Given the description of an element on the screen output the (x, y) to click on. 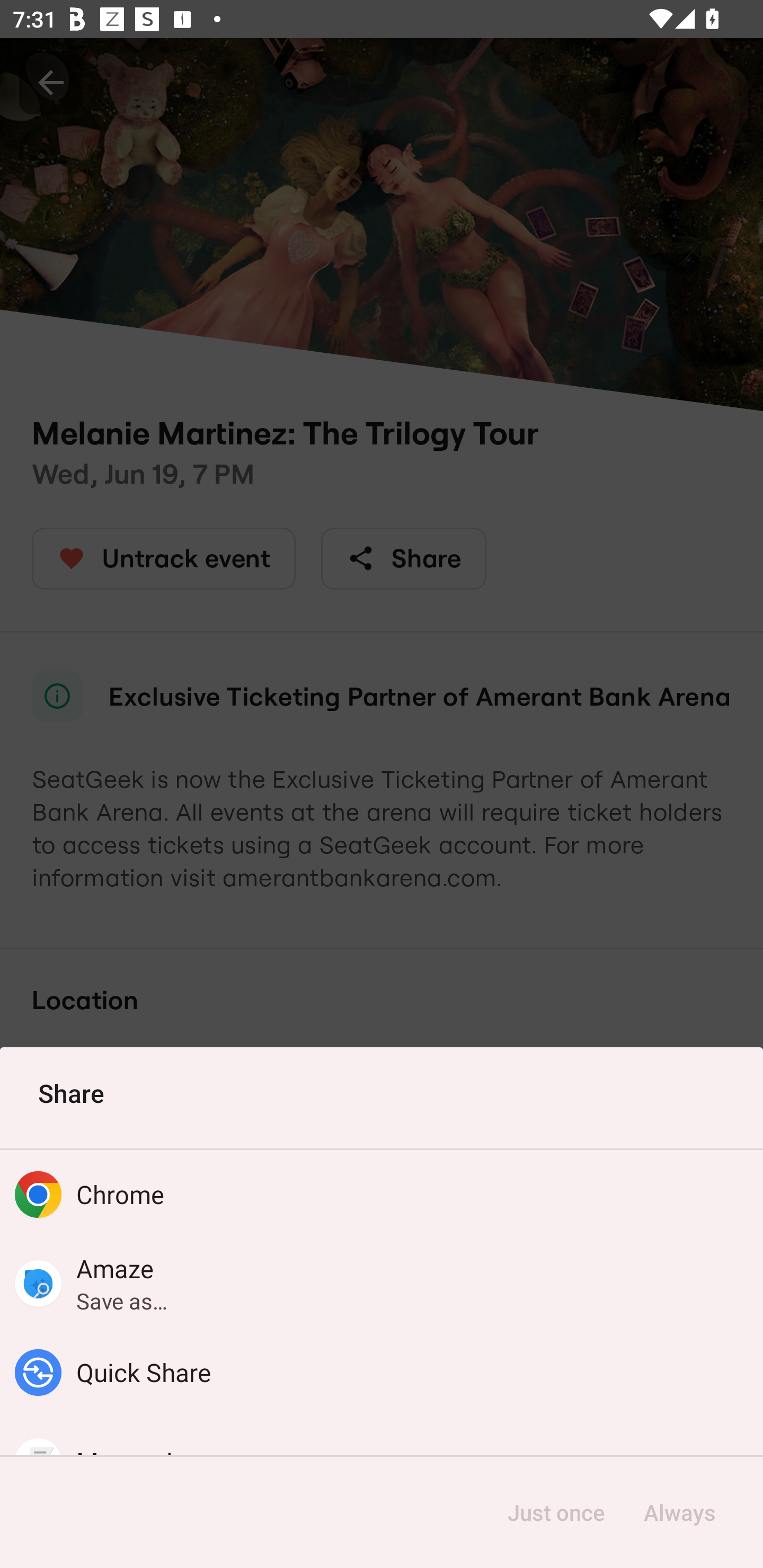
Chrome (381, 1193)
Amaze Save as… (381, 1283)
Quick Share (381, 1372)
Just once (556, 1512)
Always (679, 1512)
